Given the description of an element on the screen output the (x, y) to click on. 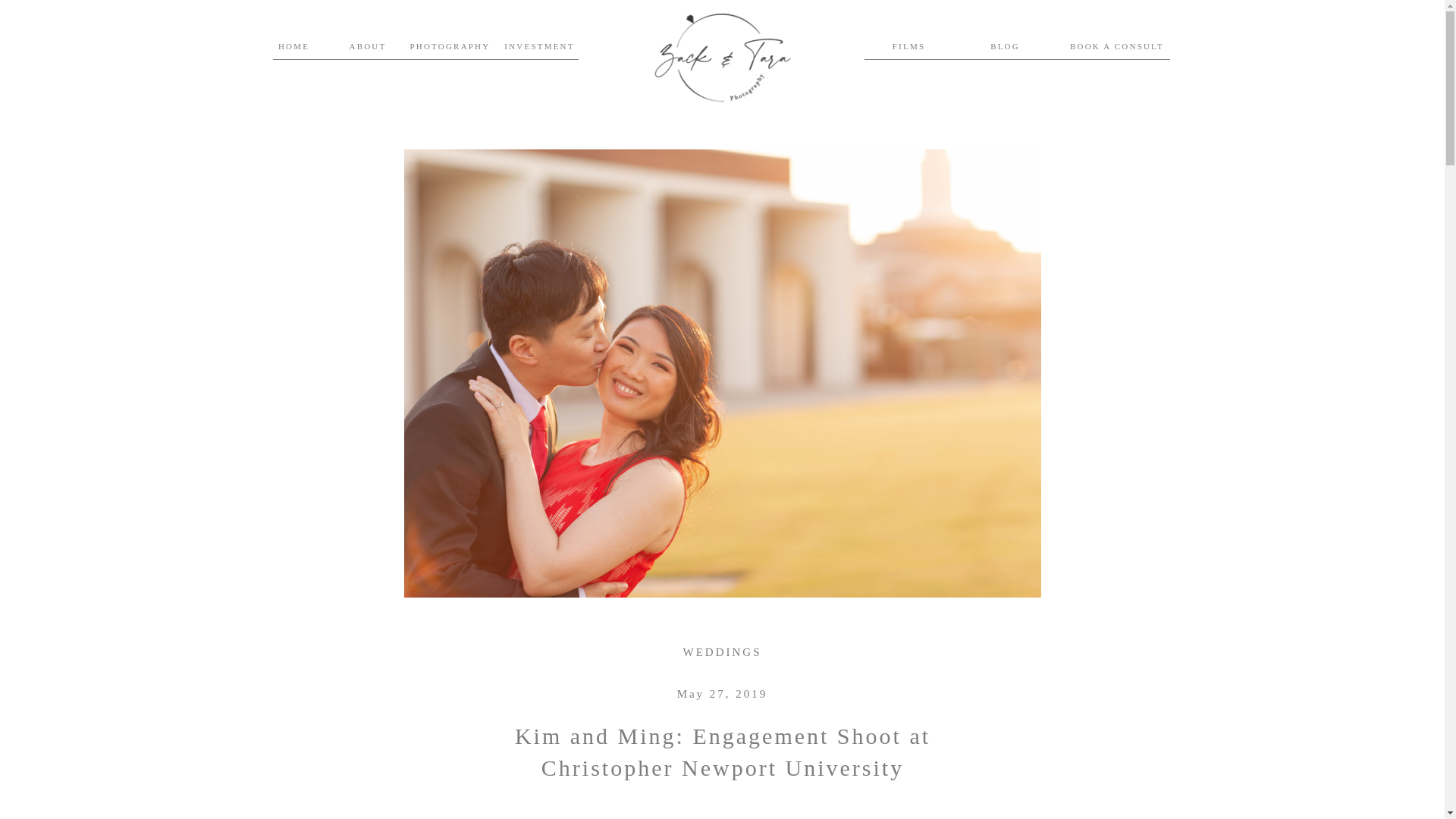
BLOG (1005, 47)
BOOK A CONSULT (1116, 48)
WEDDINGS (721, 652)
INVESTMENT (539, 47)
HOME (293, 47)
ABOUT (367, 47)
FILMS (908, 47)
PHOTOGRAPHY (442, 47)
